Given the description of an element on the screen output the (x, y) to click on. 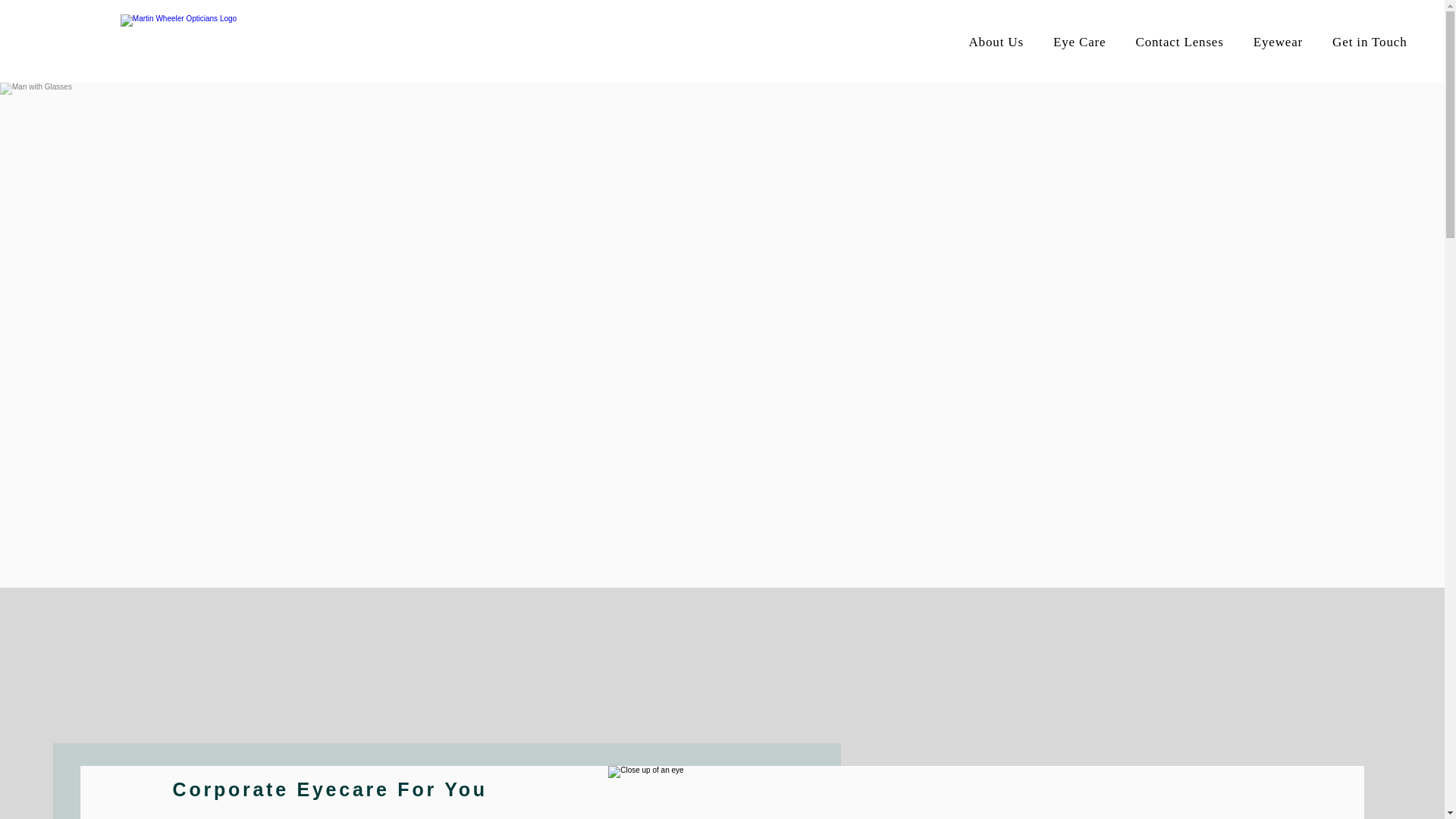
About Us (995, 42)
Get in Touch (1369, 42)
Contact Lenses (1179, 42)
Eyewear (1277, 42)
